Given the description of an element on the screen output the (x, y) to click on. 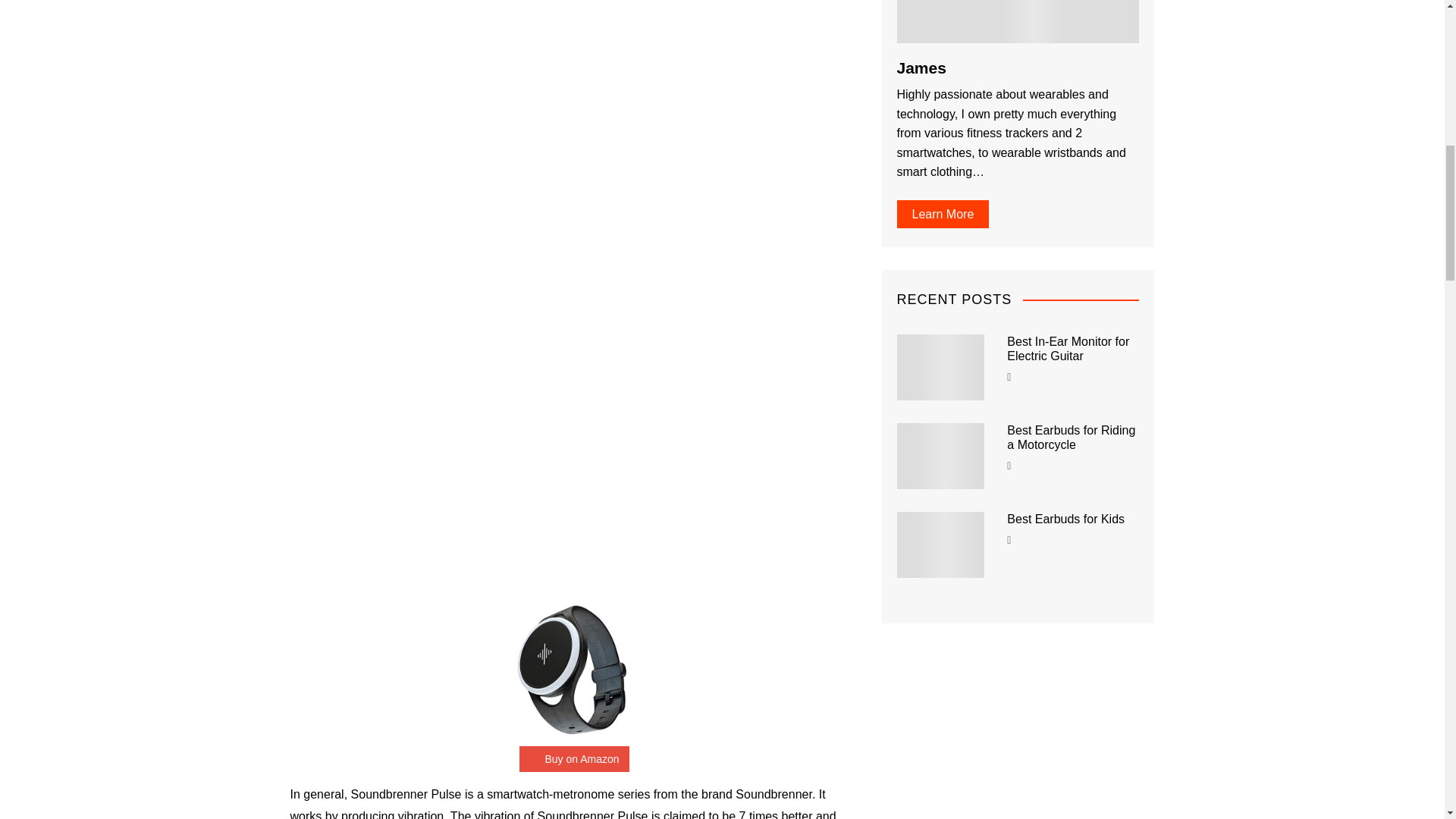
Buy on Amazon (573, 759)
Buy on Amazon (573, 759)
